Given the description of an element on the screen output the (x, y) to click on. 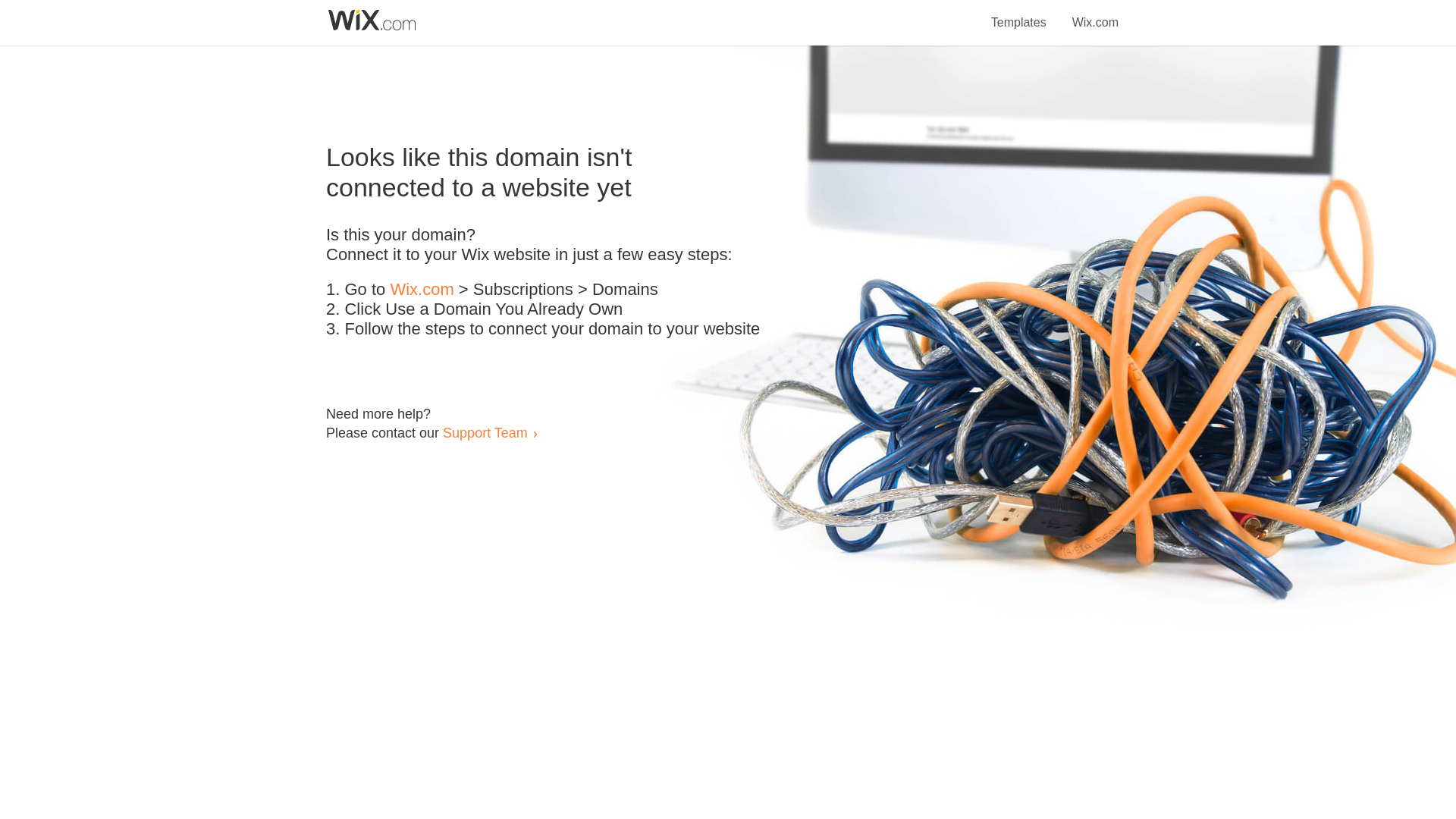
Wix.com (1095, 14)
Wix.com (421, 289)
Templates (1018, 14)
Support Team (484, 432)
